Given the description of an element on the screen output the (x, y) to click on. 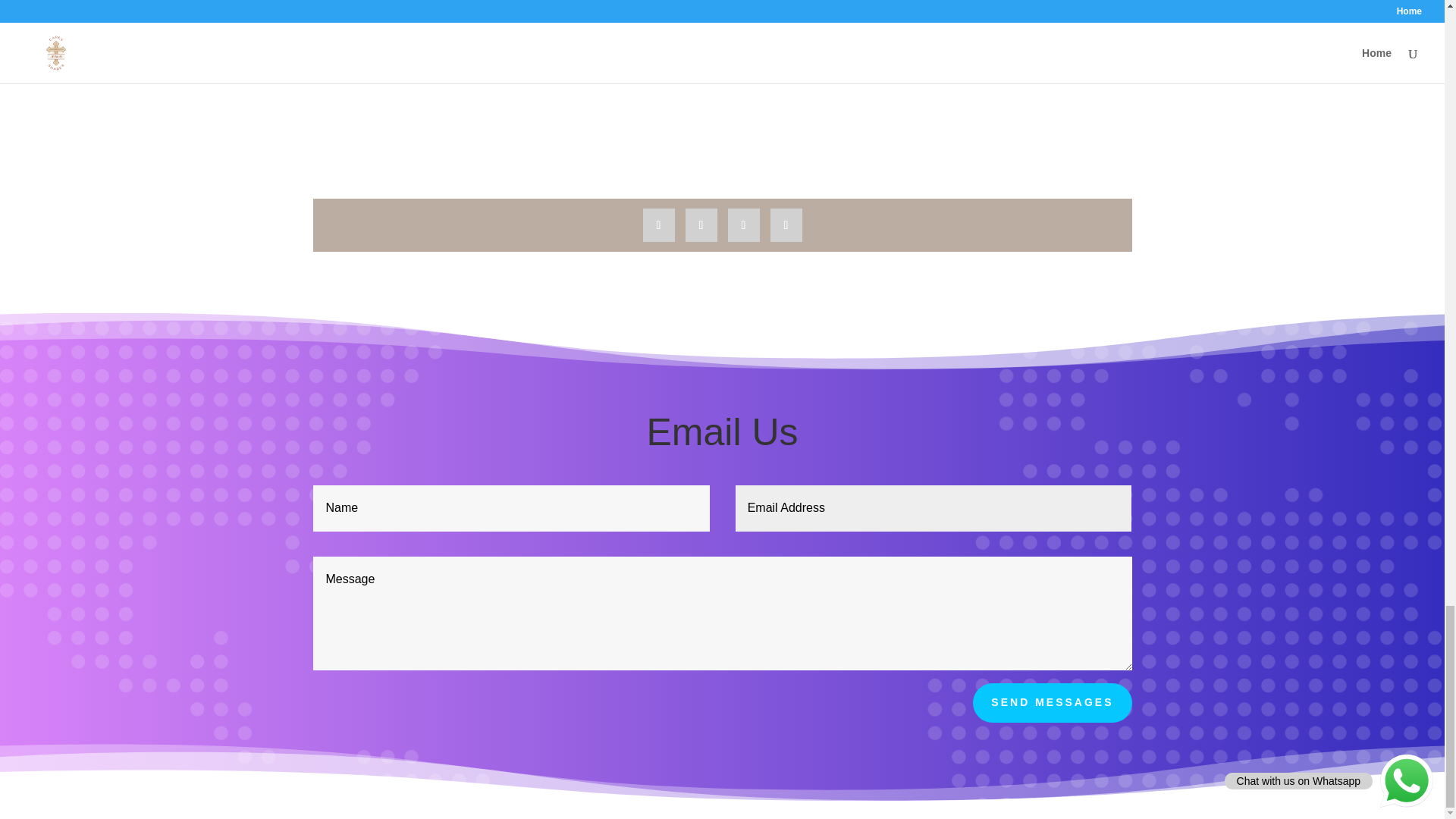
Follow on Facebook (659, 224)
Follow on Twitter (701, 224)
SEND MESSAGES (1051, 702)
Follow on Youtube (744, 224)
Follow on Instagram (786, 224)
